Given the description of an element on the screen output the (x, y) to click on. 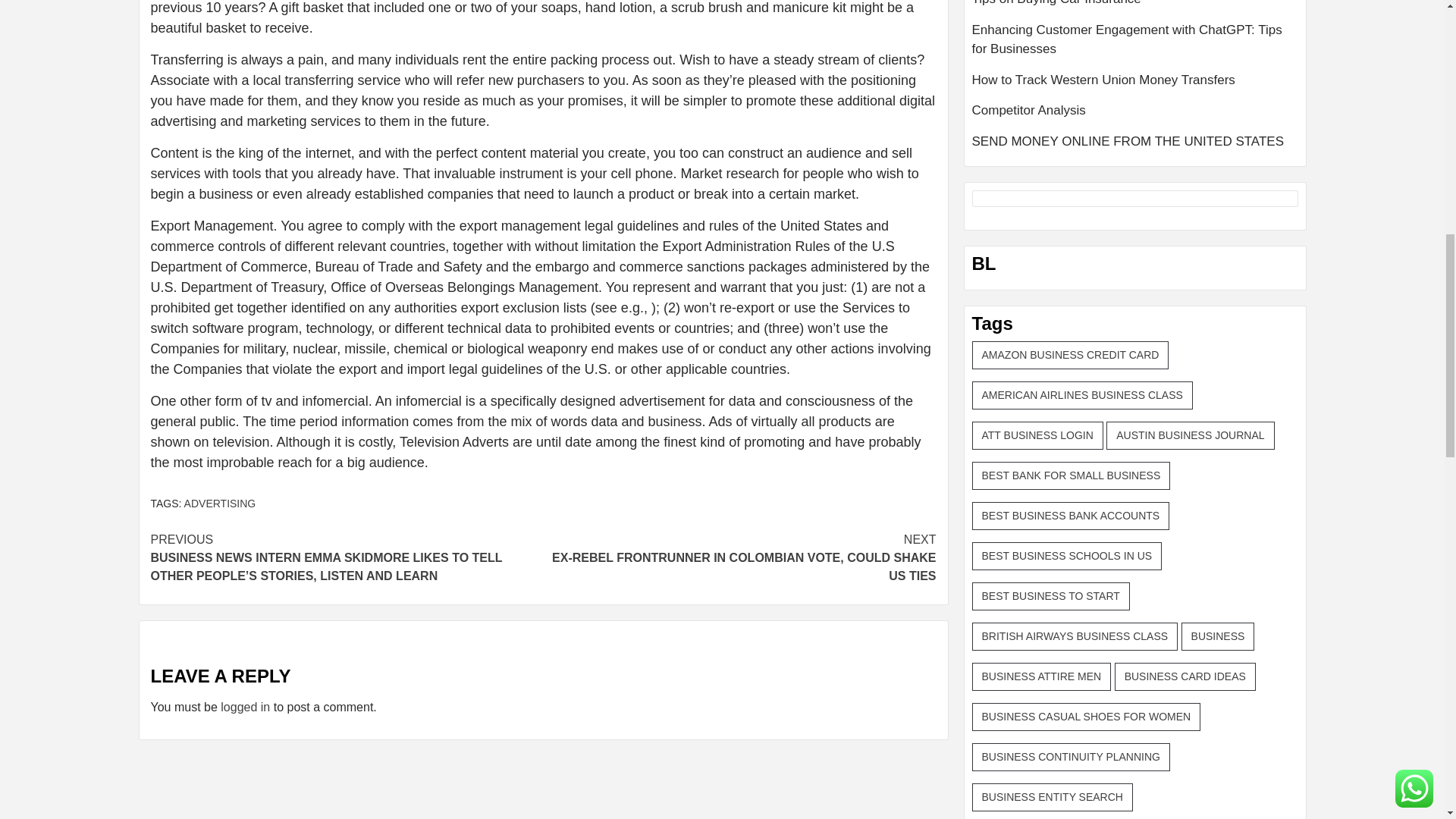
ADVERTISING (220, 503)
logged in (245, 707)
